Given the description of an element on the screen output the (x, y) to click on. 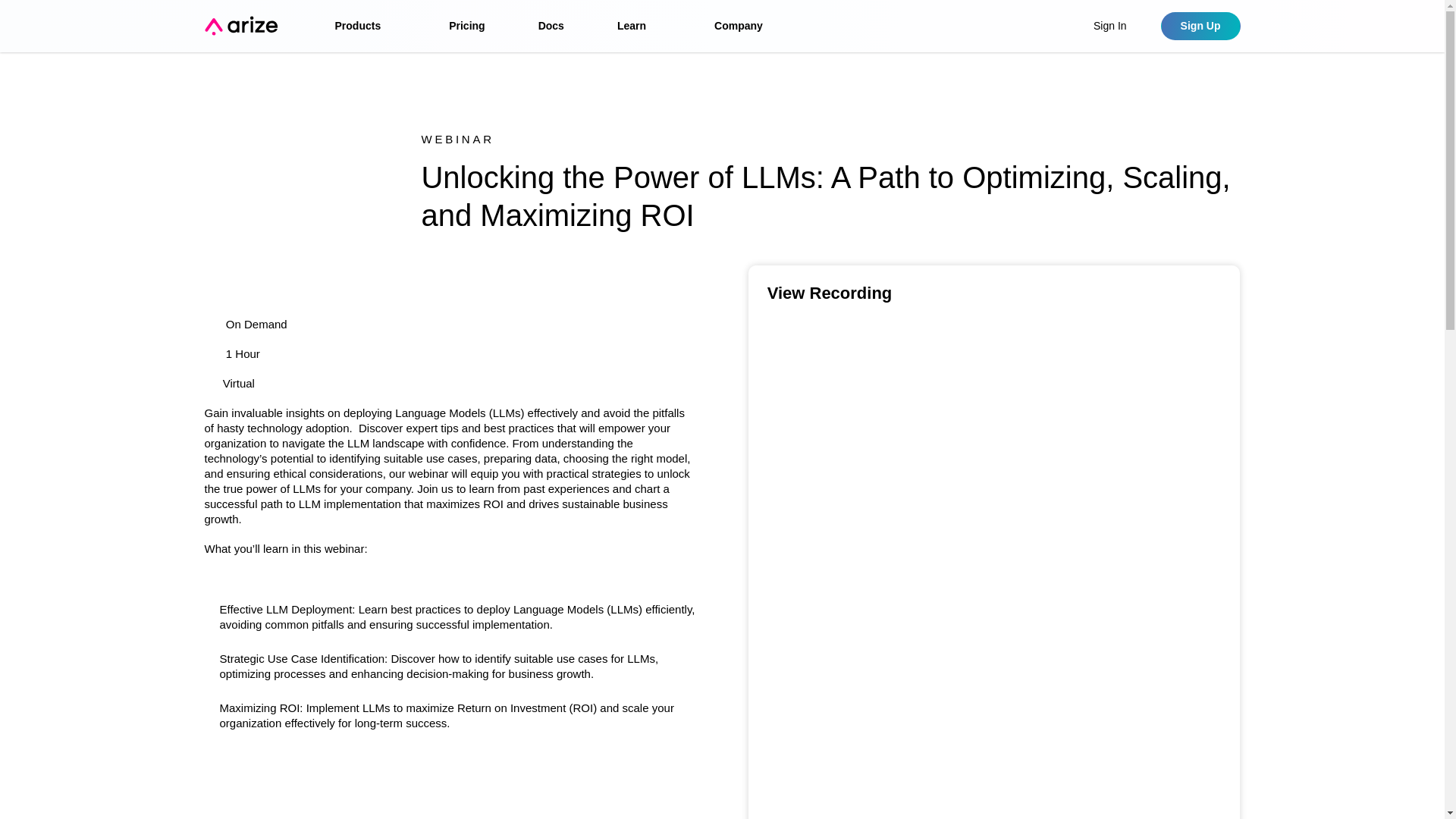
Products (364, 25)
Company (745, 25)
Sign Up (1200, 26)
Sign In (1109, 25)
Learn (638, 25)
Pricing (466, 25)
Docs (551, 25)
